Given the description of an element on the screen output the (x, y) to click on. 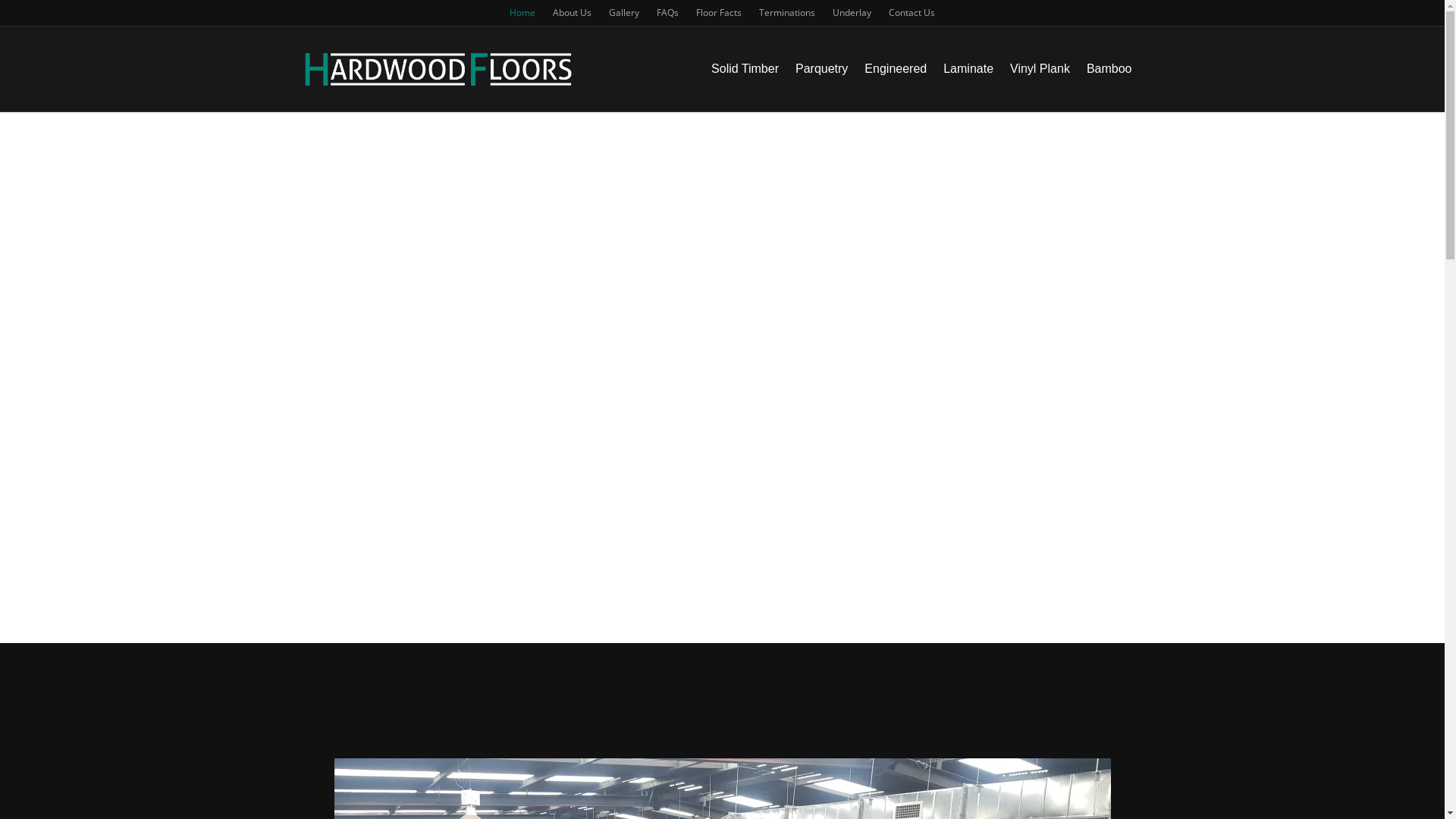
Vinyl Plank Element type: text (1039, 68)
Floor Facts Element type: text (718, 12)
Gallery Element type: text (623, 12)
Engineered Element type: text (895, 68)
Underlay Element type: text (851, 12)
Contact Us Element type: text (911, 12)
Bamboo Element type: text (1109, 68)
About Us Element type: text (572, 12)
Parquetry Element type: text (821, 68)
Home Element type: text (522, 12)
Terminations Element type: text (786, 12)
Laminate Element type: text (968, 68)
Solid Timber Element type: text (744, 68)
FAQs Element type: text (667, 12)
